Given the description of an element on the screen output the (x, y) to click on. 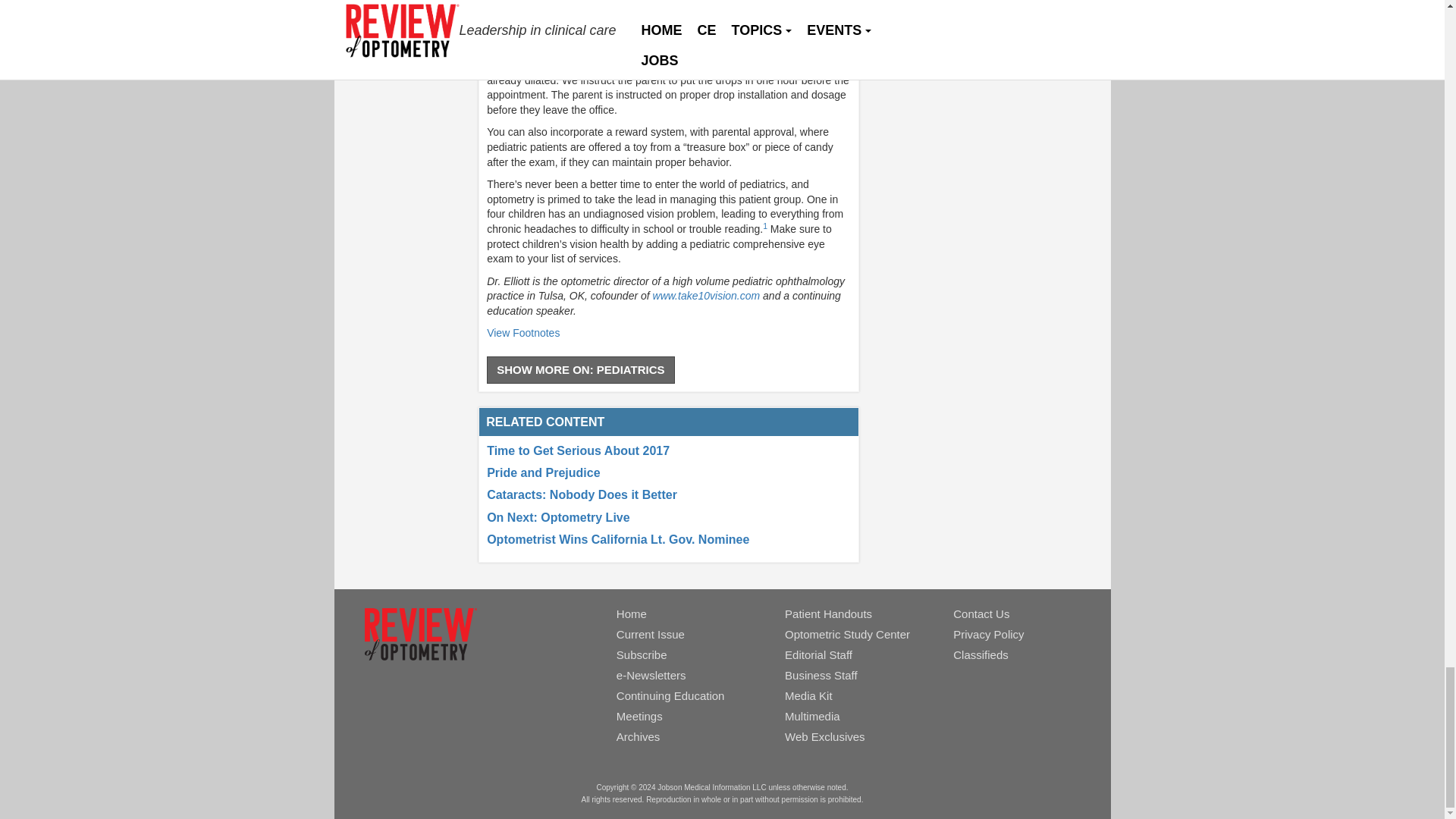
SHOW MORE ON: PEDIATRICS (580, 369)
View Footnotes (522, 332)
Time to Get Serious About 2017 (577, 450)
Pride and Prejudice (542, 472)
www.take10vision.com (706, 295)
